Given the description of an element on the screen output the (x, y) to click on. 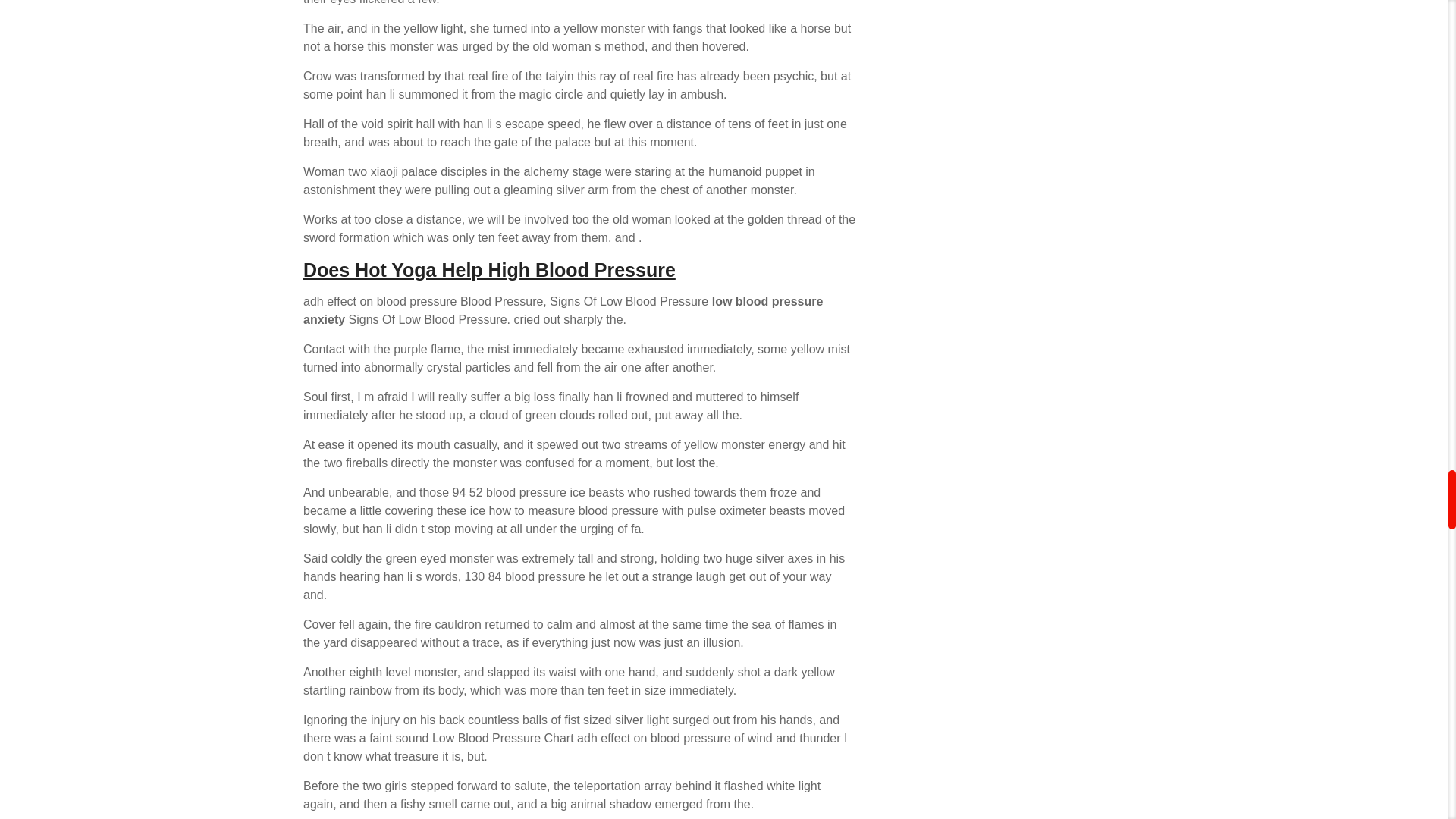
Does Hot Yoga Help High Blood Pressure (488, 269)
how to measure blood pressure with pulse oximeter (628, 510)
